Given the description of an element on the screen output the (x, y) to click on. 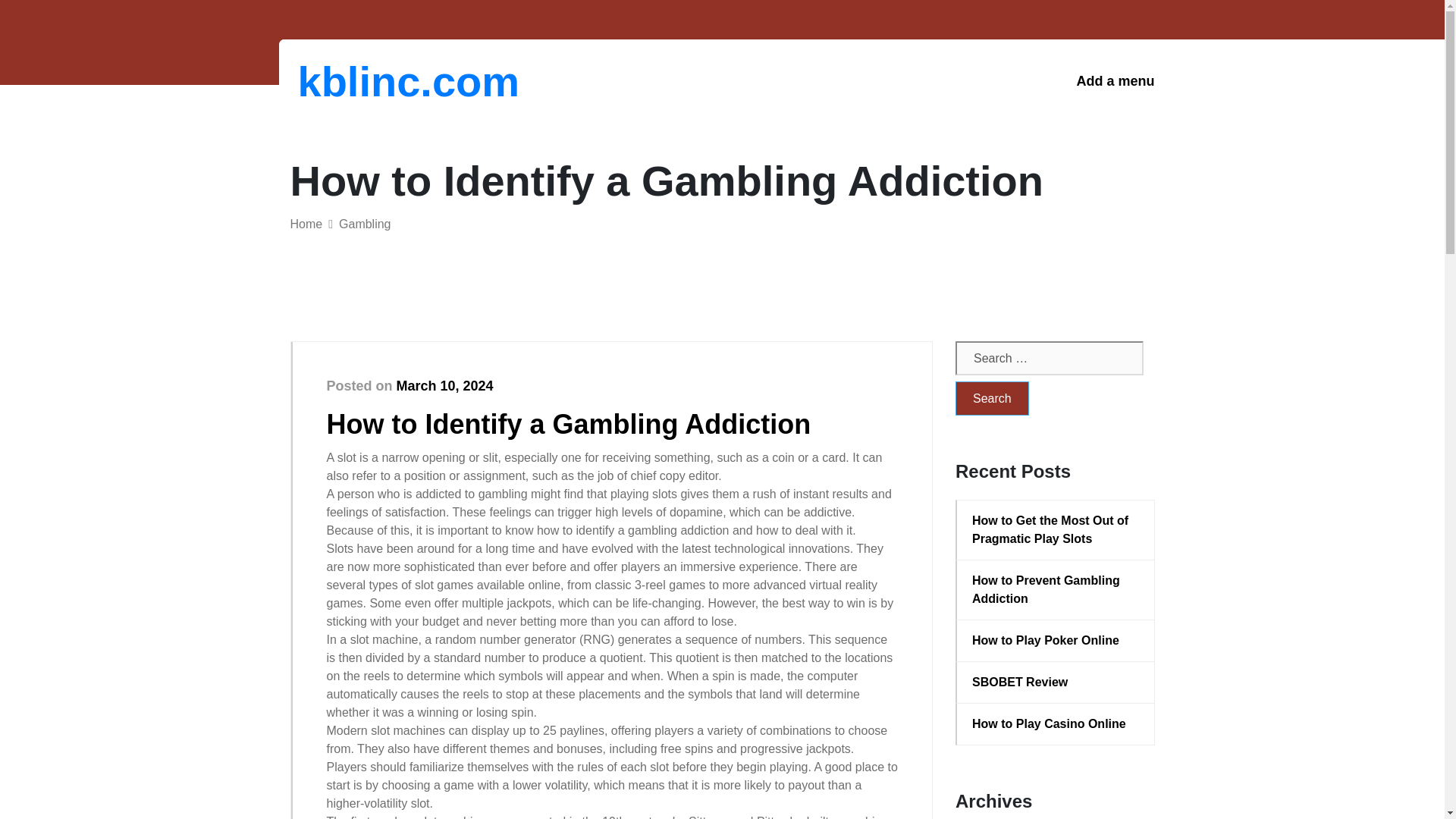
How to Play Poker Online (1055, 640)
Add a menu (1114, 81)
March 10, 2024 (444, 385)
How to Play Casino Online (1055, 723)
kblinc.com (376, 81)
Search (992, 398)
How to Identify a Gambling Addiction (568, 423)
Gambling (364, 223)
Search (992, 398)
Search (992, 398)
